Given the description of an element on the screen output the (x, y) to click on. 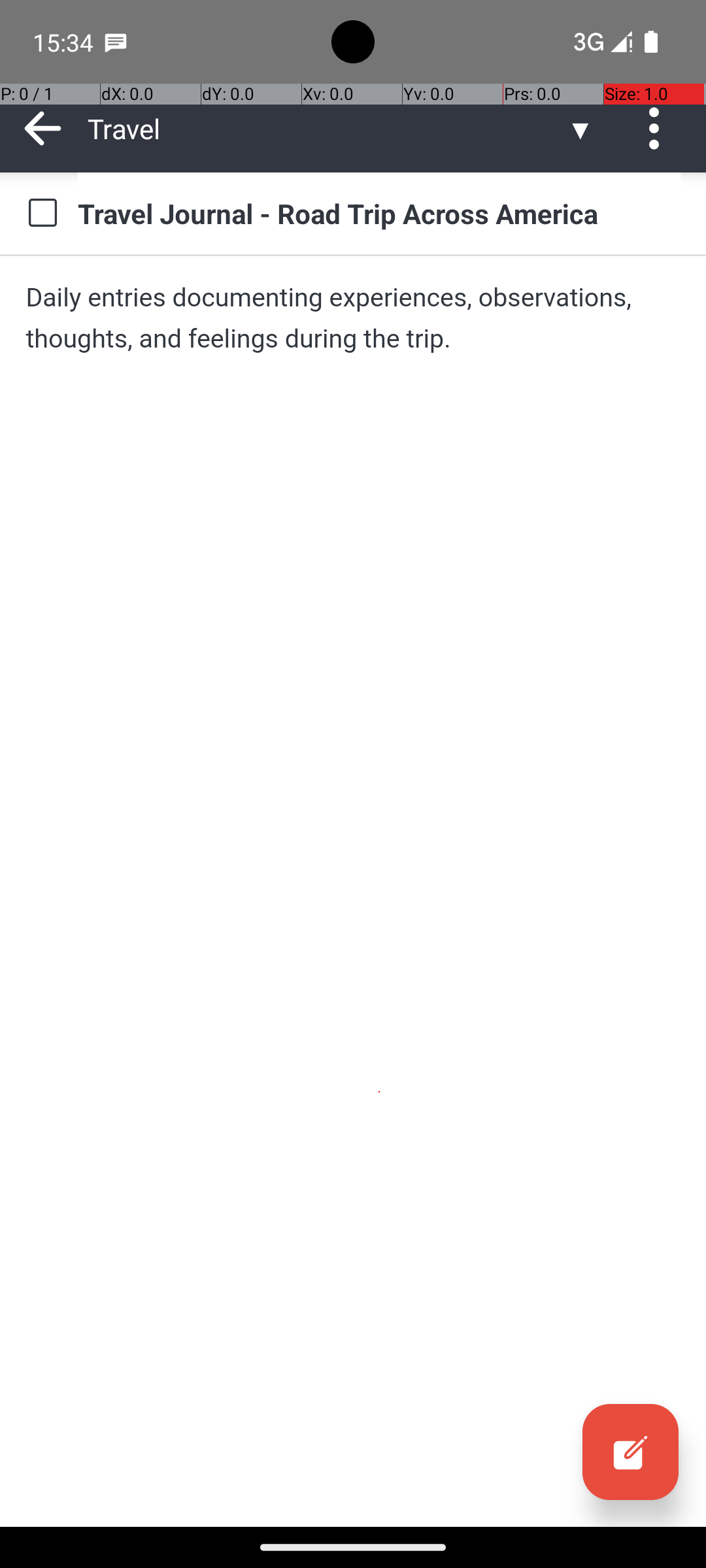
Travel Journal - Road Trip Across America Element type: android.widget.EditText (378, 213)
Travel Element type: android.widget.TextView (326, 128)
Daily entries documenting experiences, observations, thoughts, and feelings during the trip. Element type: android.widget.TextView (352, 317)
